Given the description of an element on the screen output the (x, y) to click on. 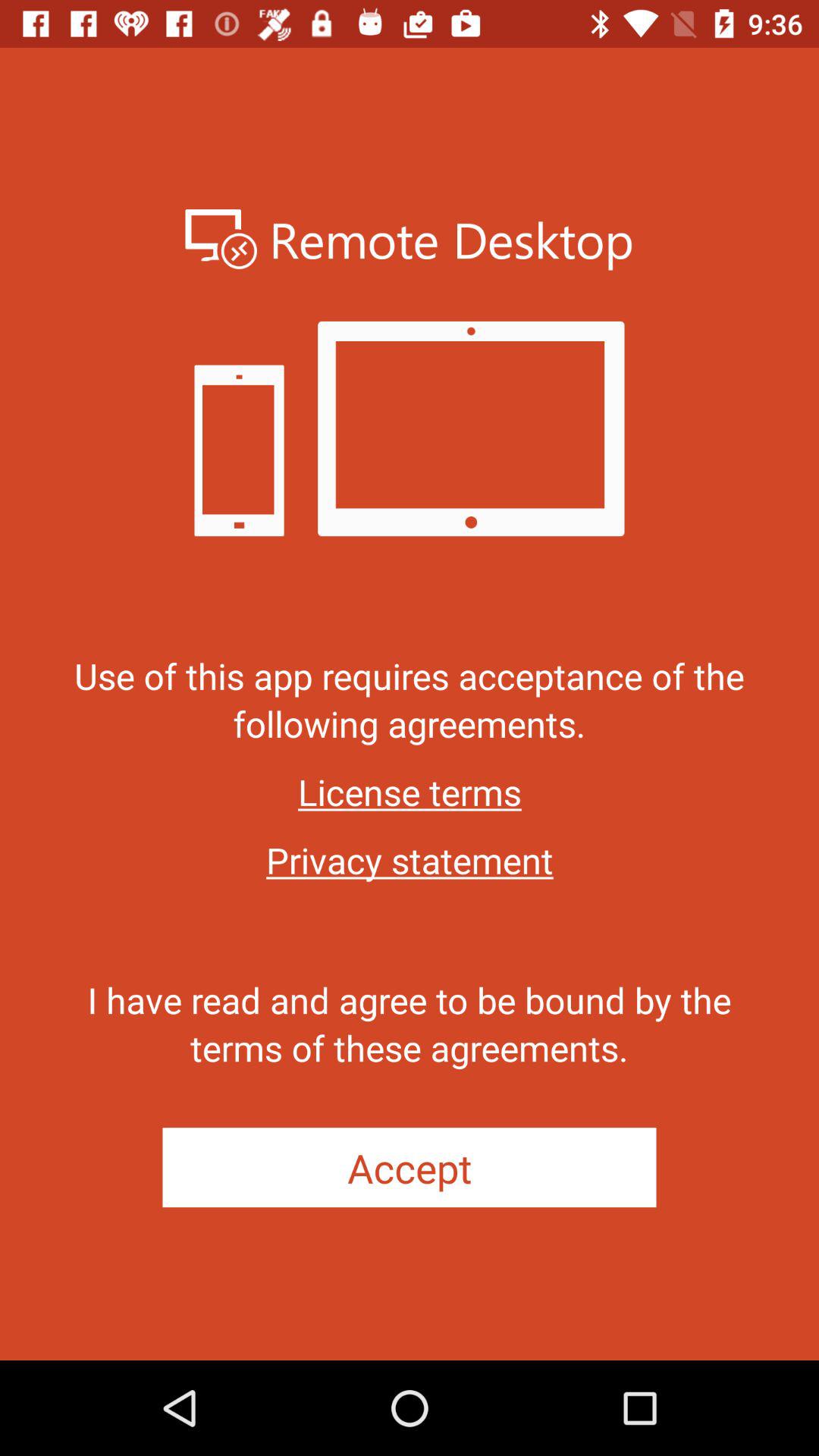
tap the item below use of this icon (409, 791)
